Given the description of an element on the screen output the (x, y) to click on. 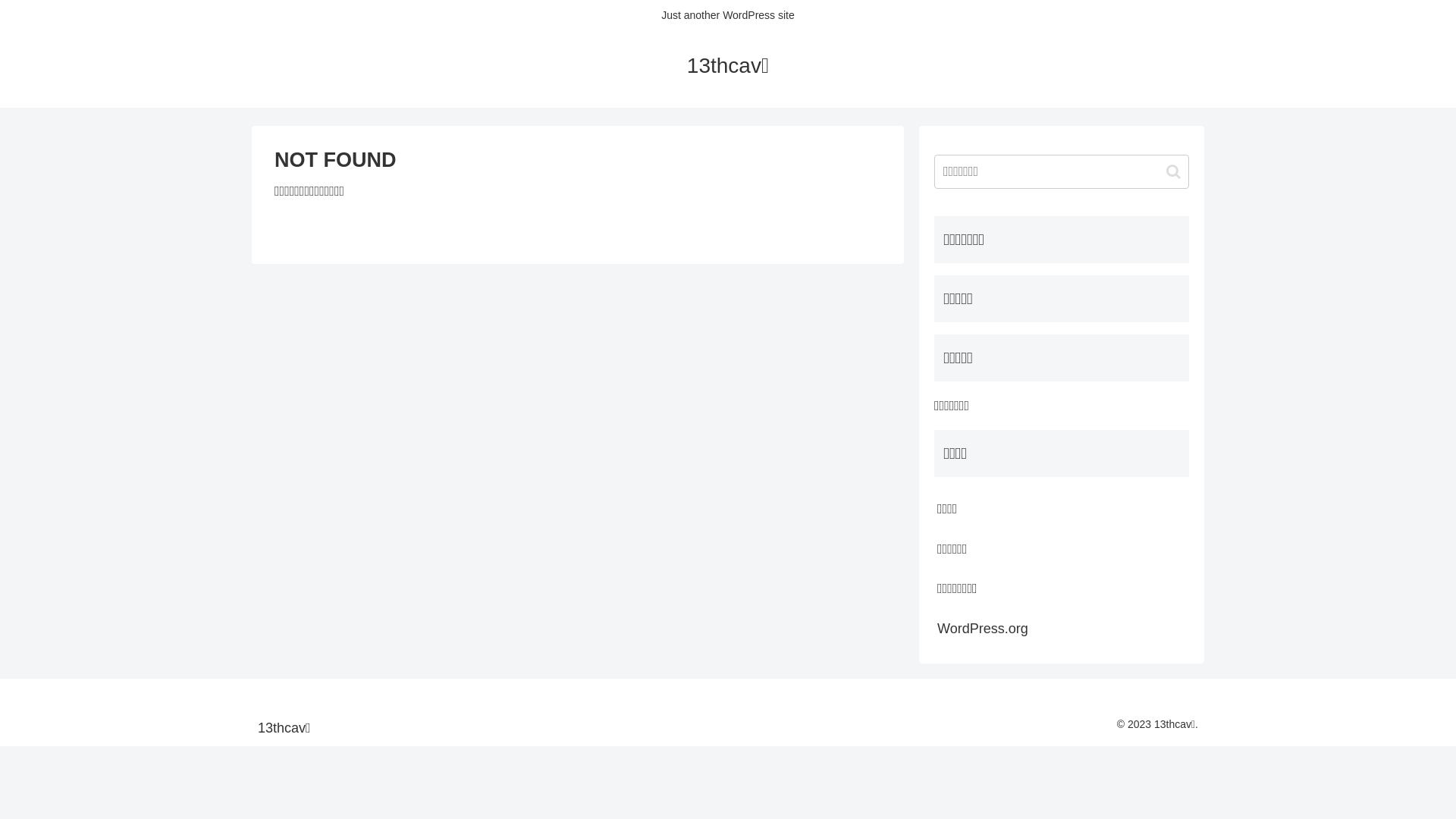
WordPress.org Element type: text (1061, 628)
